Given the description of an element on the screen output the (x, y) to click on. 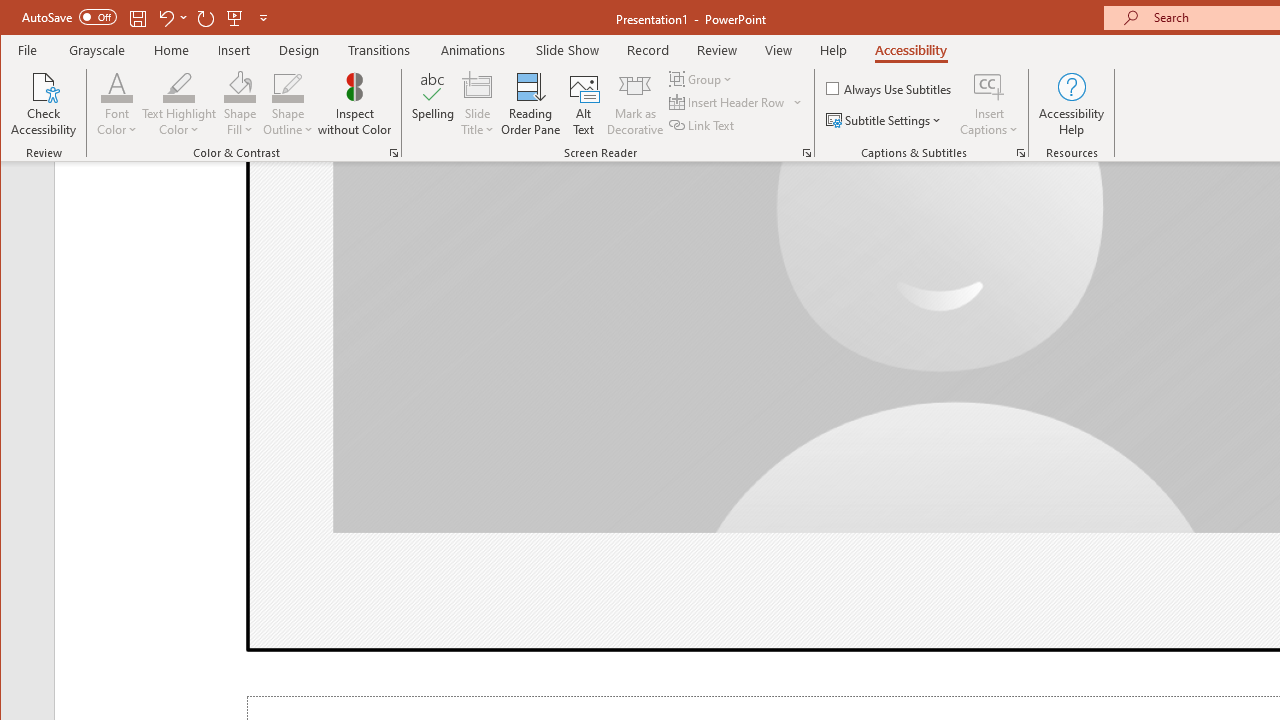
Captions & Subtitles (1020, 152)
Screen Reader (806, 152)
Subtitle Settings (885, 119)
